Given the description of an element on the screen output the (x, y) to click on. 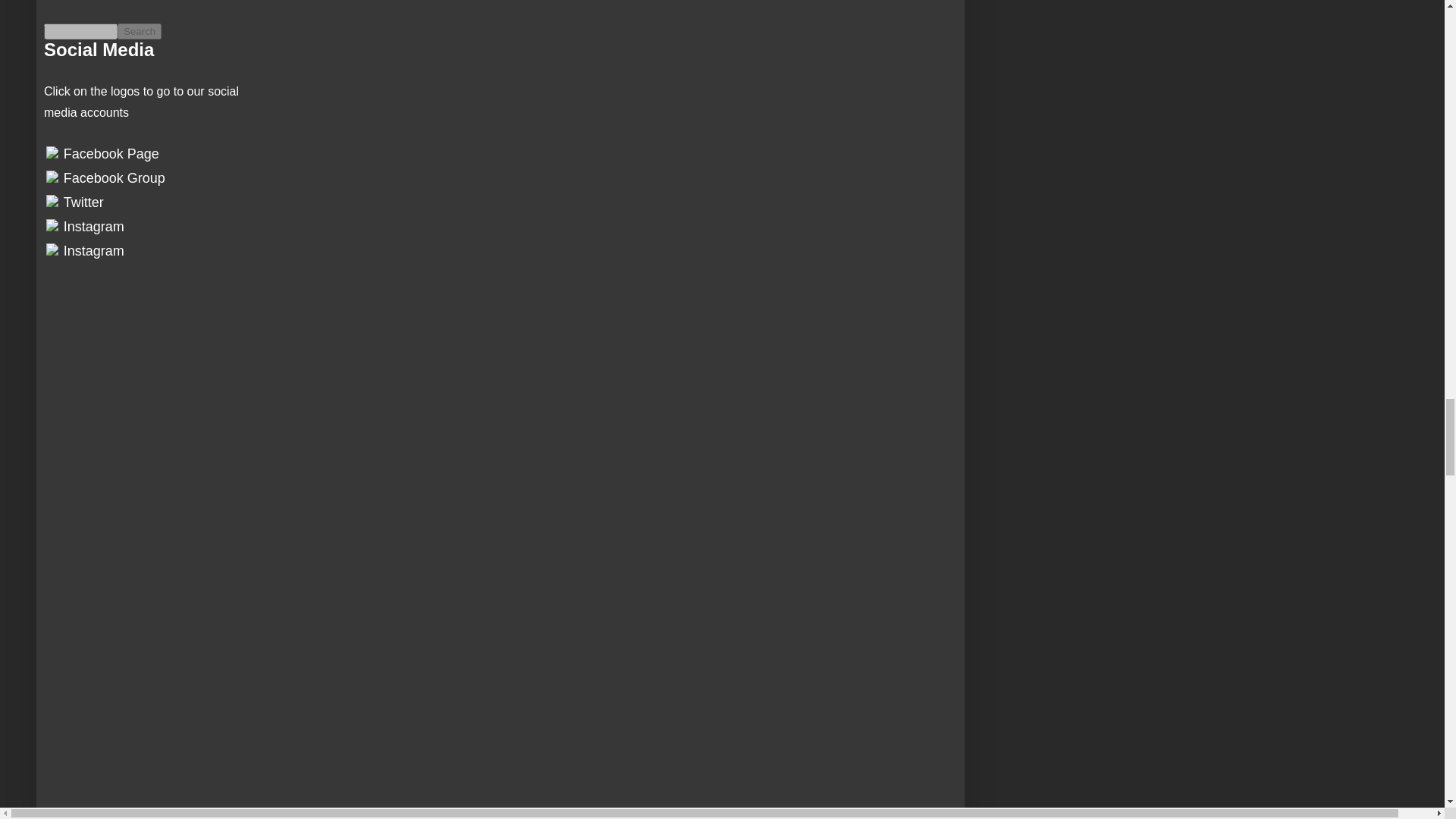
search (80, 31)
Search (139, 31)
Search (139, 31)
Search (139, 31)
search (139, 31)
